Given the description of an element on the screen output the (x, y) to click on. 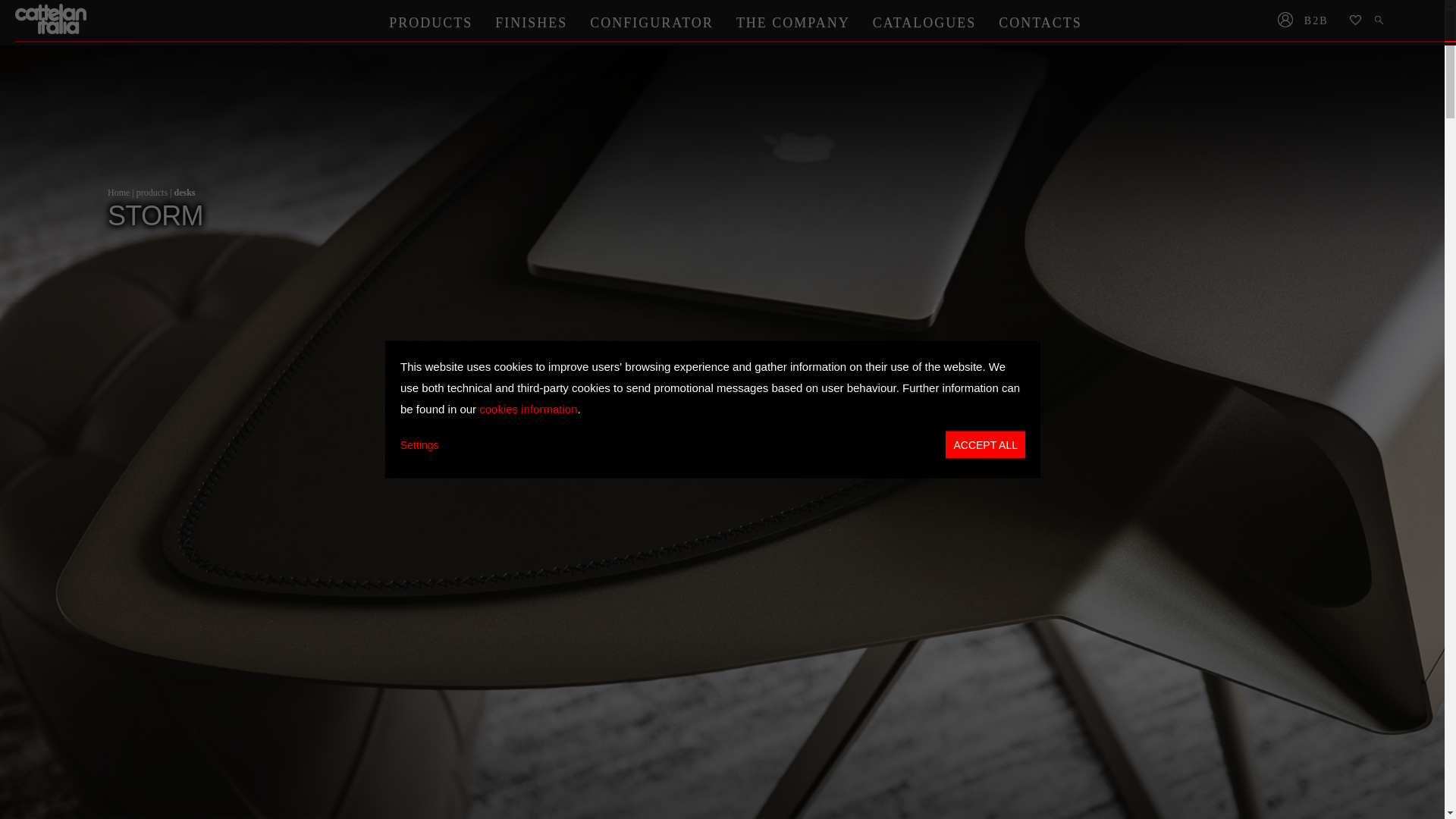
PRODUCTS (430, 22)
B2B (1321, 20)
Cattelan Italia (52, 19)
CONFIGURATOR (651, 22)
ACCEPT ALL (984, 443)
Login (1285, 21)
cookies information (527, 408)
CATALOGUES (924, 22)
THE COMPANY (793, 22)
products (151, 192)
DESKS (184, 192)
FINISHES (530, 22)
products (151, 192)
Cookies information (527, 408)
CONTACTS (1040, 22)
